Given the description of an element on the screen output the (x, y) to click on. 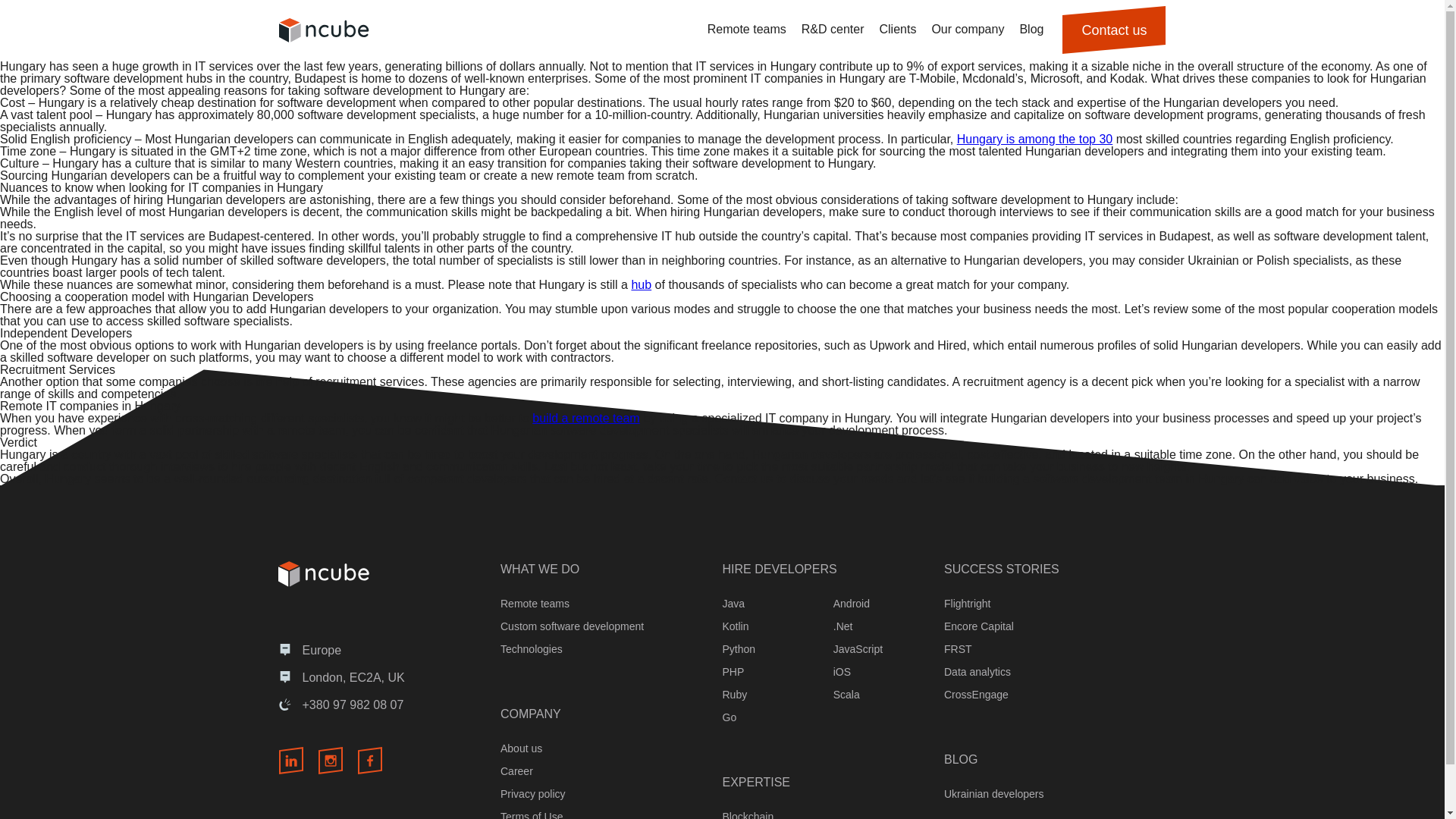
Custom software development (571, 625)
Flightright (966, 603)
Career (516, 770)
hub (640, 284)
Technologies (531, 648)
Java (733, 603)
PHP (733, 671)
Android (850, 603)
.Net (842, 625)
Blockchain (747, 814)
About us (520, 748)
Encore Capital (978, 625)
Kotlin (735, 625)
build a remote team (585, 418)
Terms of Use (531, 814)
